Given the description of an element on the screen output the (x, y) to click on. 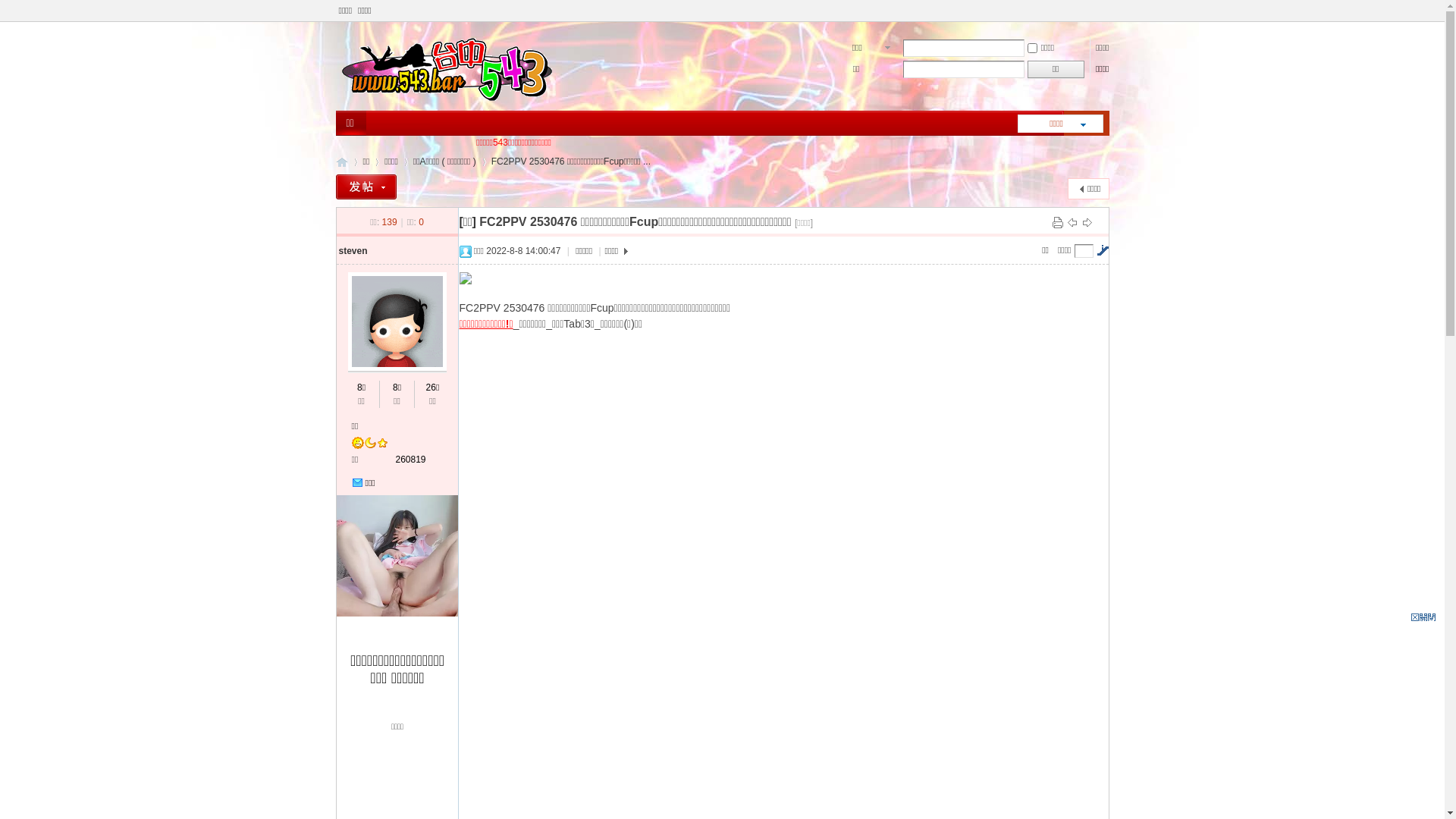
steven Element type: text (352, 250)
260819 Element type: text (410, 459)
